Given the description of an element on the screen output the (x, y) to click on. 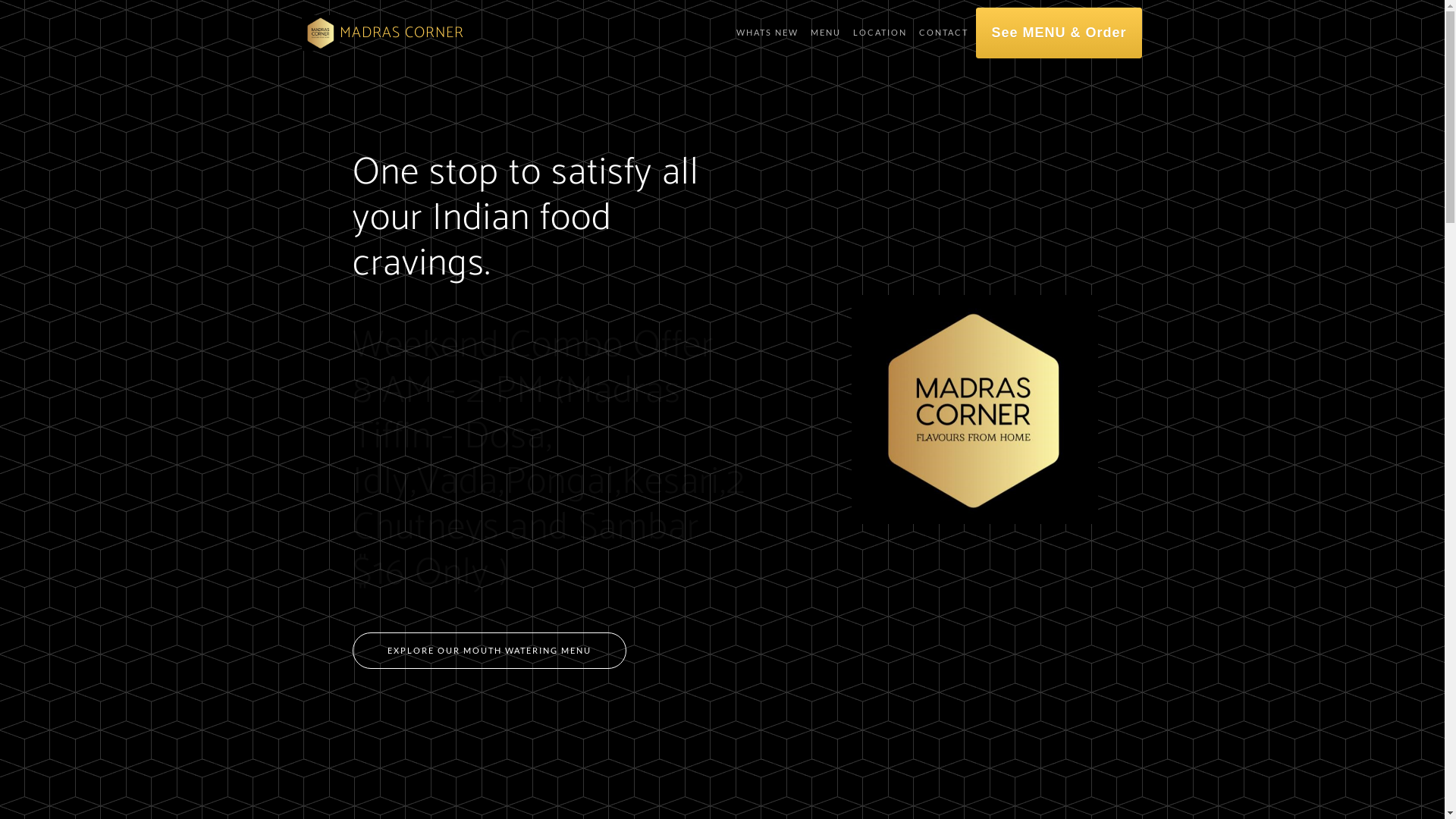
WHATS NEW Element type: text (767, 32)
EXPLORE OUR MOUTH WATERING MENU Element type: text (489, 650)
See MENU & Order Element type: text (1058, 32)
MADRAS CORNER Element type: text (401, 33)
MENU Element type: text (825, 32)
CONTACT Element type: text (943, 32)
LOCATION Element type: text (880, 32)
